Given the description of an element on the screen output the (x, y) to click on. 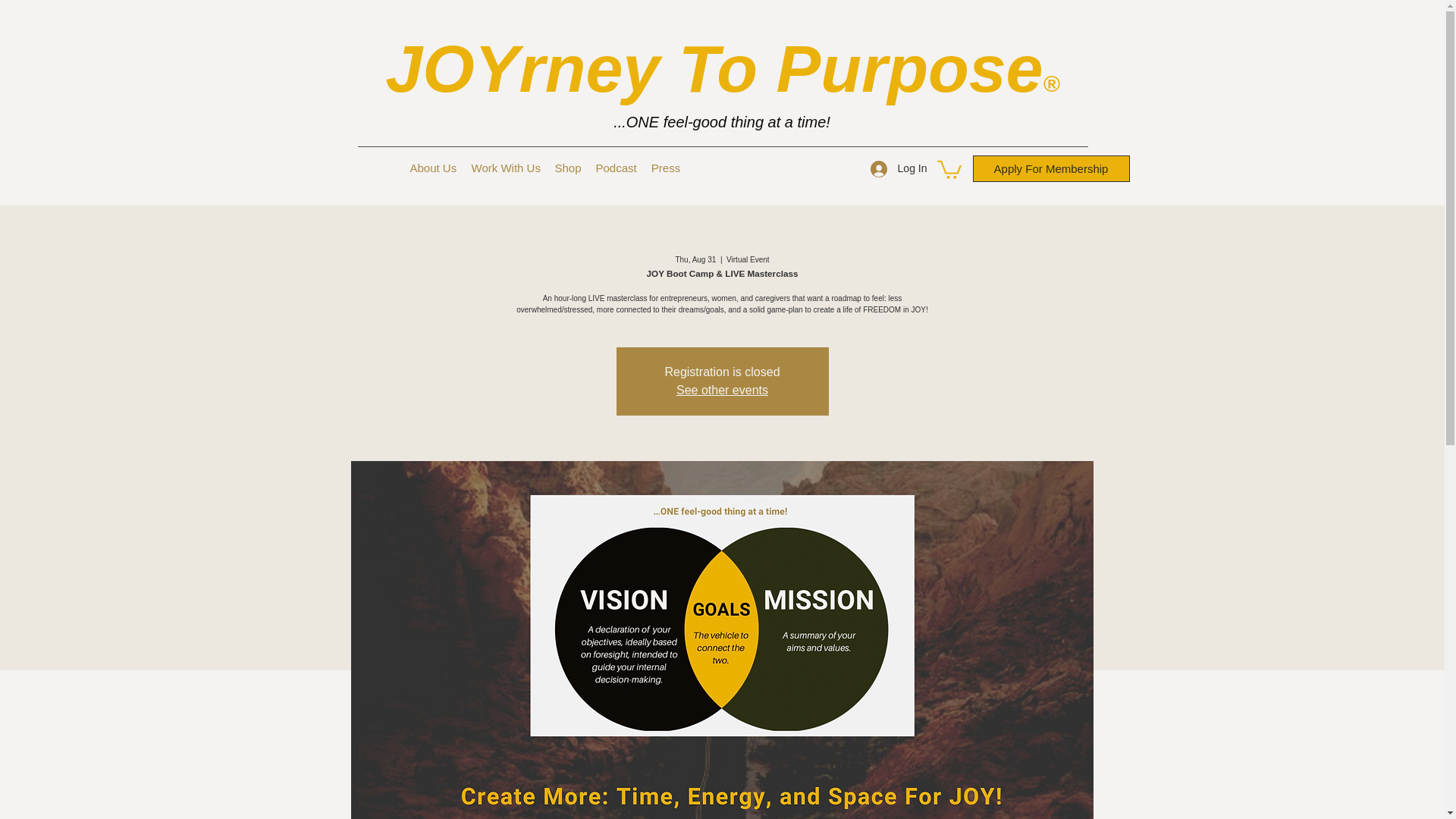
Apply For Membership (1050, 168)
See other events (722, 390)
Podcast (615, 168)
Shop (567, 168)
Log In (898, 168)
Press (665, 168)
Work With Us (505, 168)
About Us (432, 168)
